Given the description of an element on the screen output the (x, y) to click on. 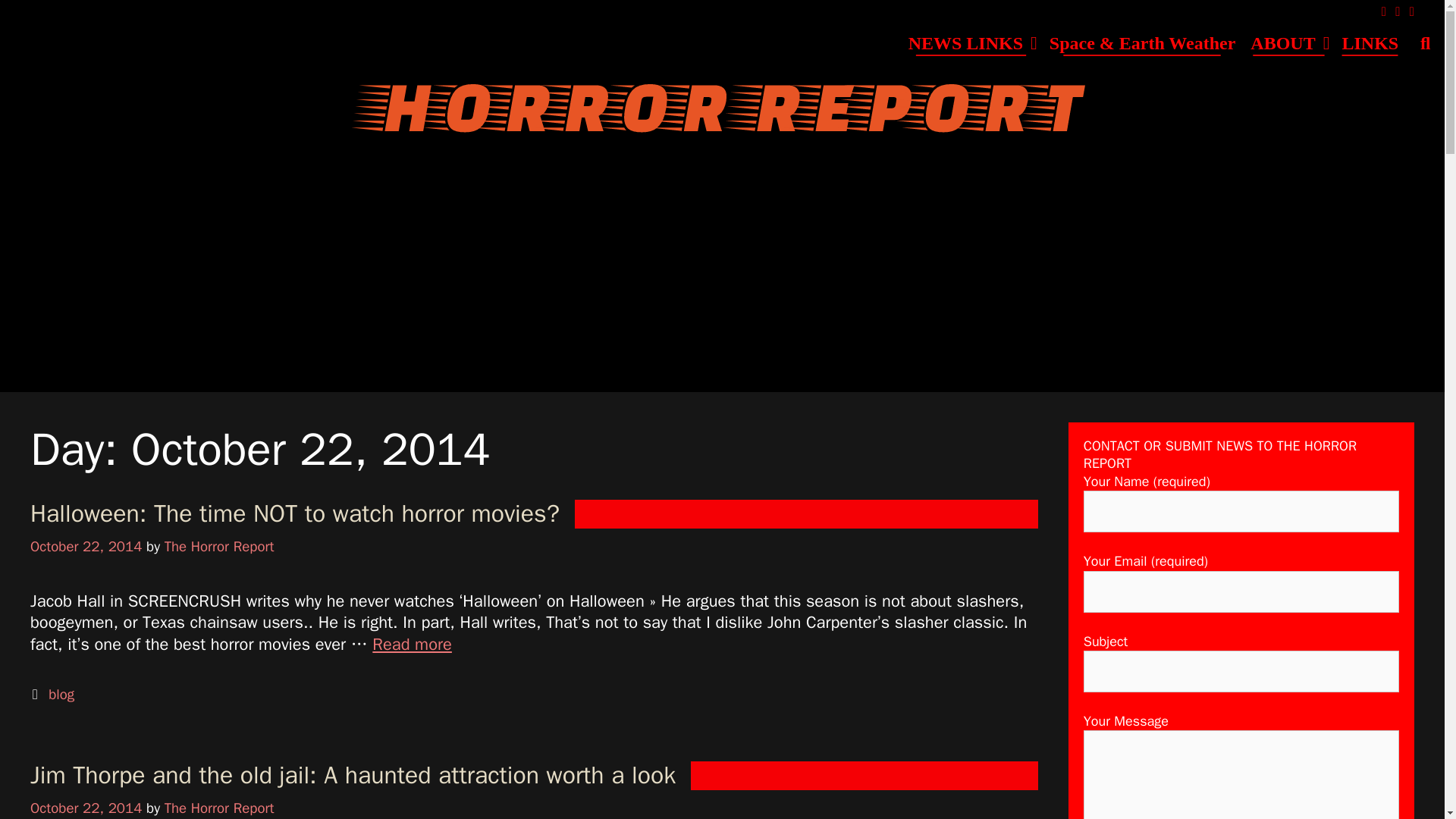
Search (722, 18)
9:30 pm (85, 546)
LINKS (1369, 43)
View all posts by The Horror Report (219, 808)
NEWS LINKS (971, 43)
Halloween: The time NOT to watch horror movies? (411, 644)
The Horror Report (219, 546)
The Horror Report (721, 109)
View all posts by The Horror Report (219, 546)
9:27 am (85, 808)
Halloween: The time NOT to watch horror movies? (302, 513)
The Horror Report (721, 110)
ABOUT (1288, 43)
Search (1425, 43)
